Given the description of an element on the screen output the (x, y) to click on. 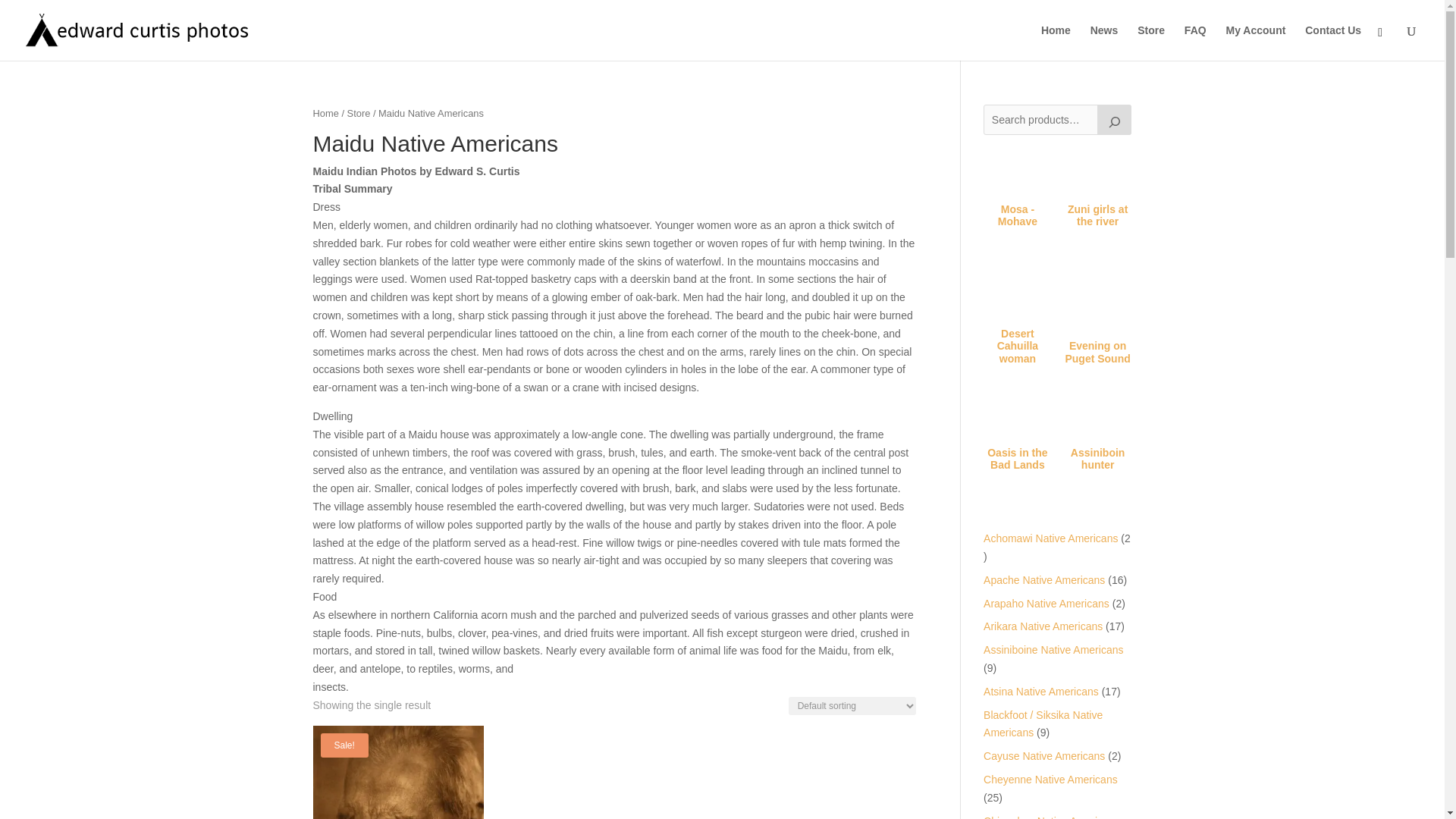
My Account (1255, 42)
Desert Cahuilla woman (1017, 323)
News (1104, 42)
Arapaho Native Americans (1046, 603)
Mosa - Mohave (1017, 202)
Chinookan Native Americans (1051, 816)
Cheyenne Native Americans (1051, 779)
Home (325, 112)
Contact Us (1332, 42)
Evening on Puget Sound (1098, 339)
Atsina Native Americans (1041, 691)
Home (1055, 42)
Store (1150, 42)
Achomawi Native Americans (1051, 538)
Assiniboin hunter (1098, 445)
